Given the description of an element on the screen output the (x, y) to click on. 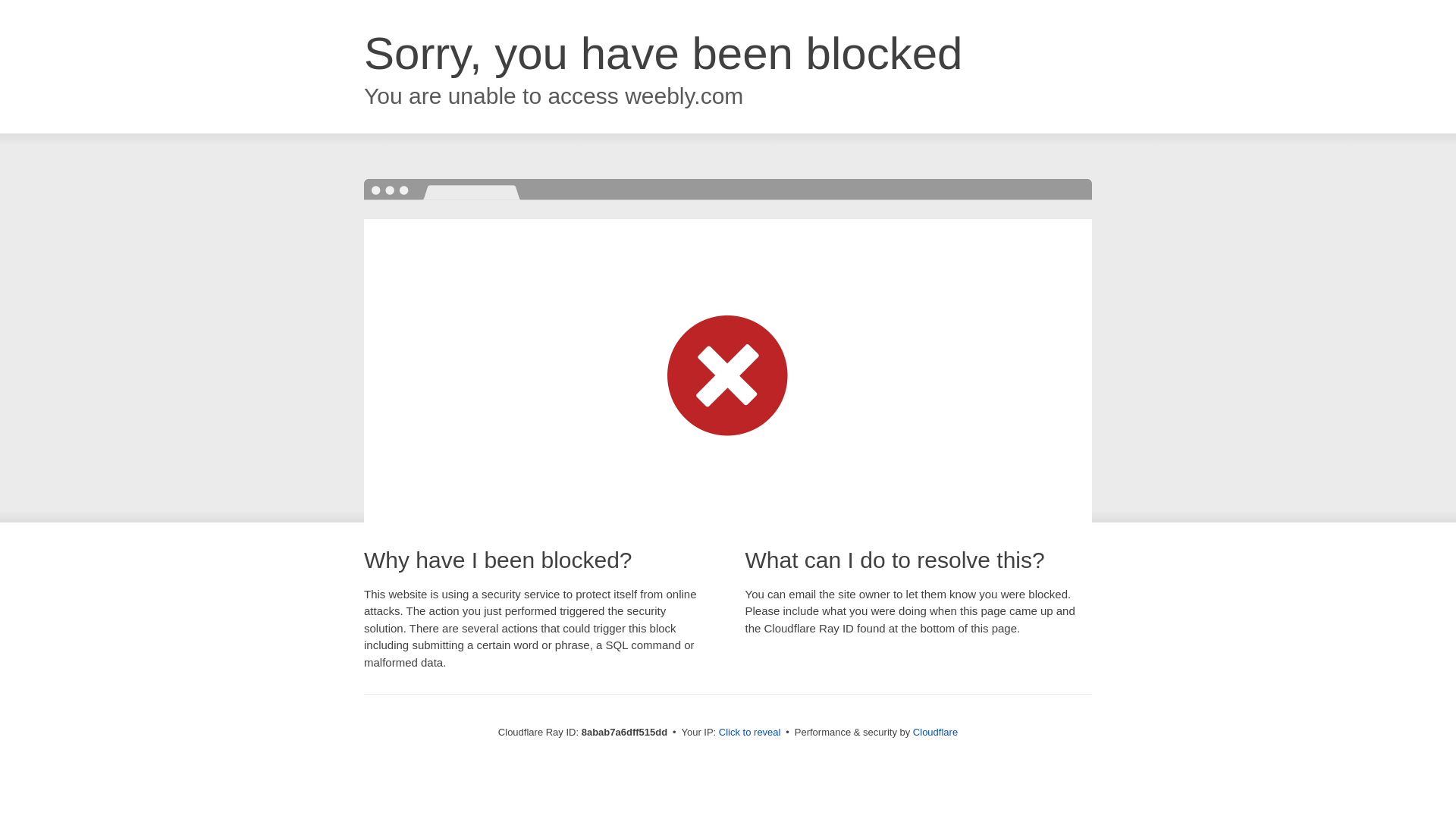
Cloudflare (935, 731)
Click to reveal (749, 732)
